Given the description of an element on the screen output the (x, y) to click on. 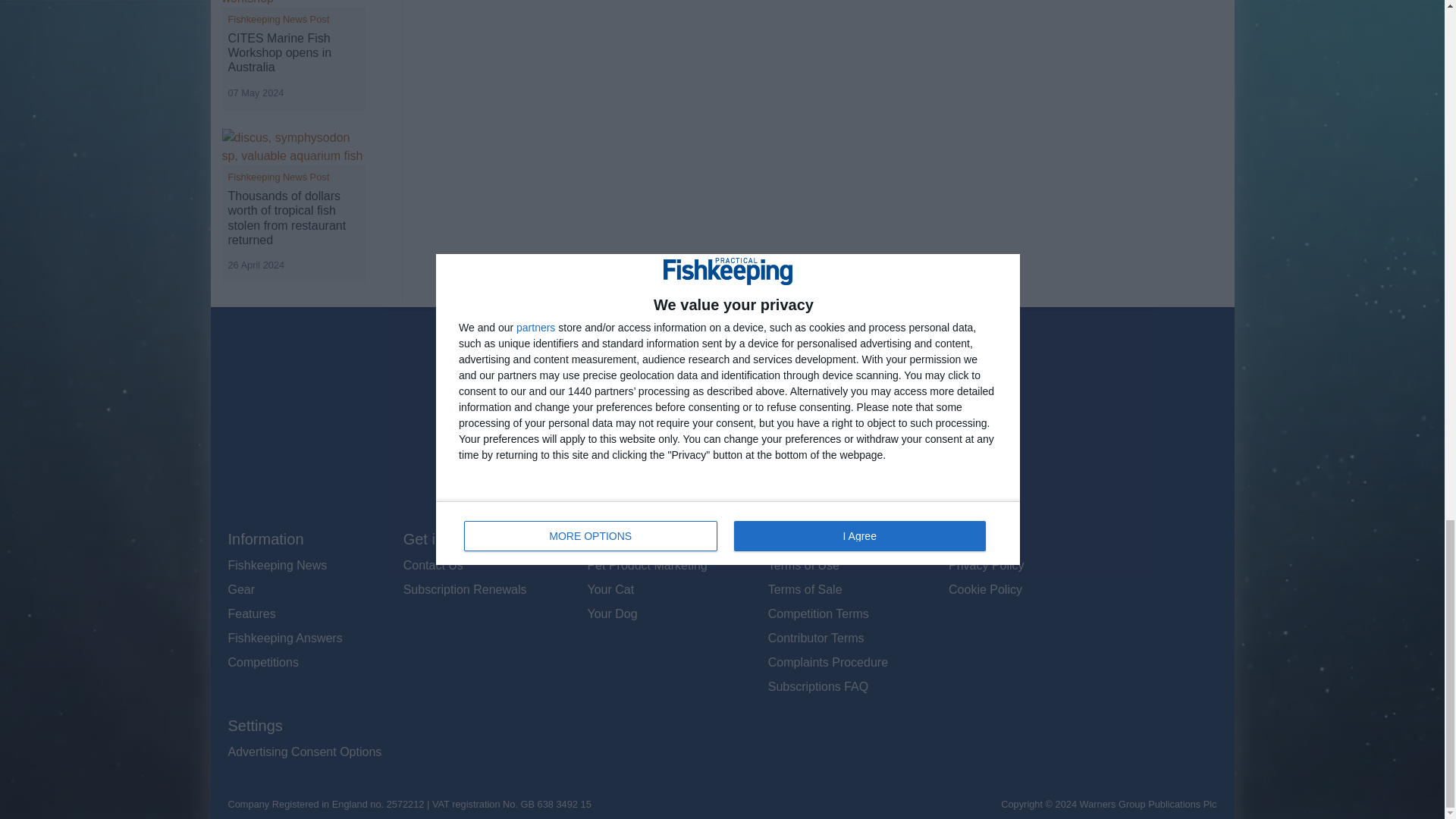
View your Advertising Consent options for this website (304, 752)
discus, symphysodon sp, valuable aquarium fish (293, 146)
